Given the description of an element on the screen output the (x, y) to click on. 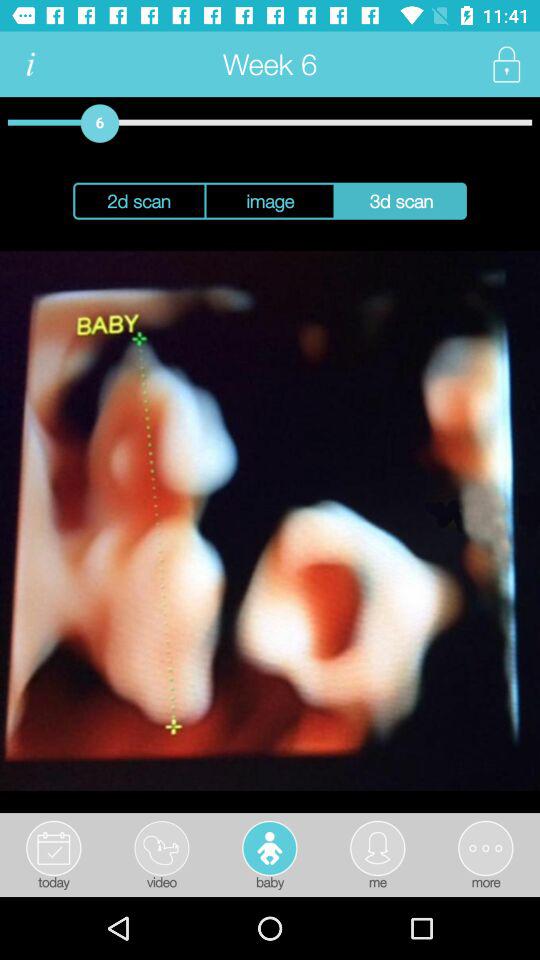
launch 2d scan button (138, 200)
